Given the description of an element on the screen output the (x, y) to click on. 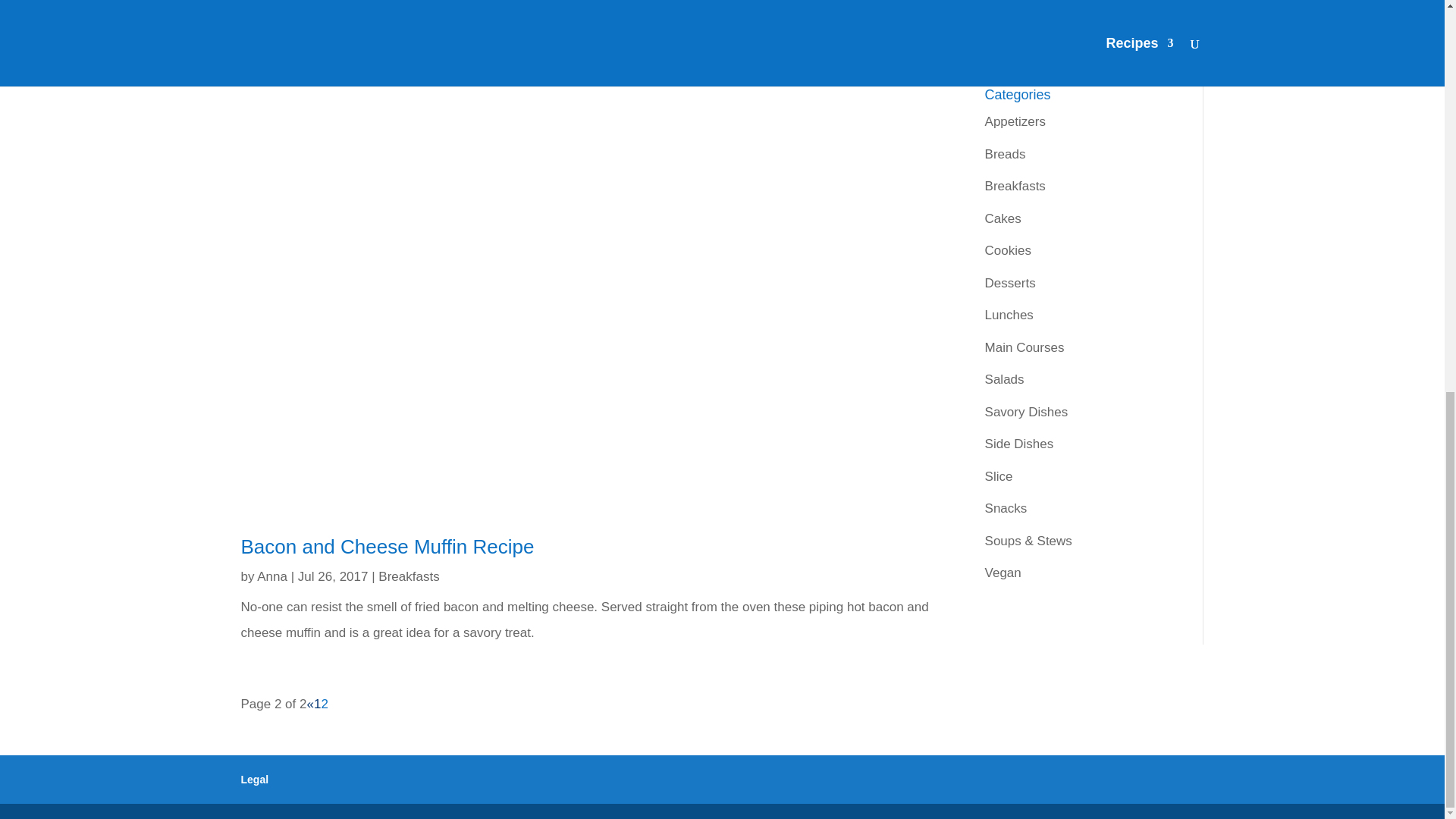
Pinterest (1036, 49)
Breakfasts (1015, 186)
Breads (1005, 154)
Main Courses (1024, 347)
Breakfasts (408, 576)
Bacon and Cheese Muffin Recipe (387, 546)
Desserts (1010, 283)
Cakes (1003, 218)
Lunches (1009, 314)
Cookies (1007, 250)
Anna (271, 576)
Posts by Anna (271, 576)
Youtube (1034, 18)
Appetizers (1015, 121)
Salads (1005, 379)
